Given the description of an element on the screen output the (x, y) to click on. 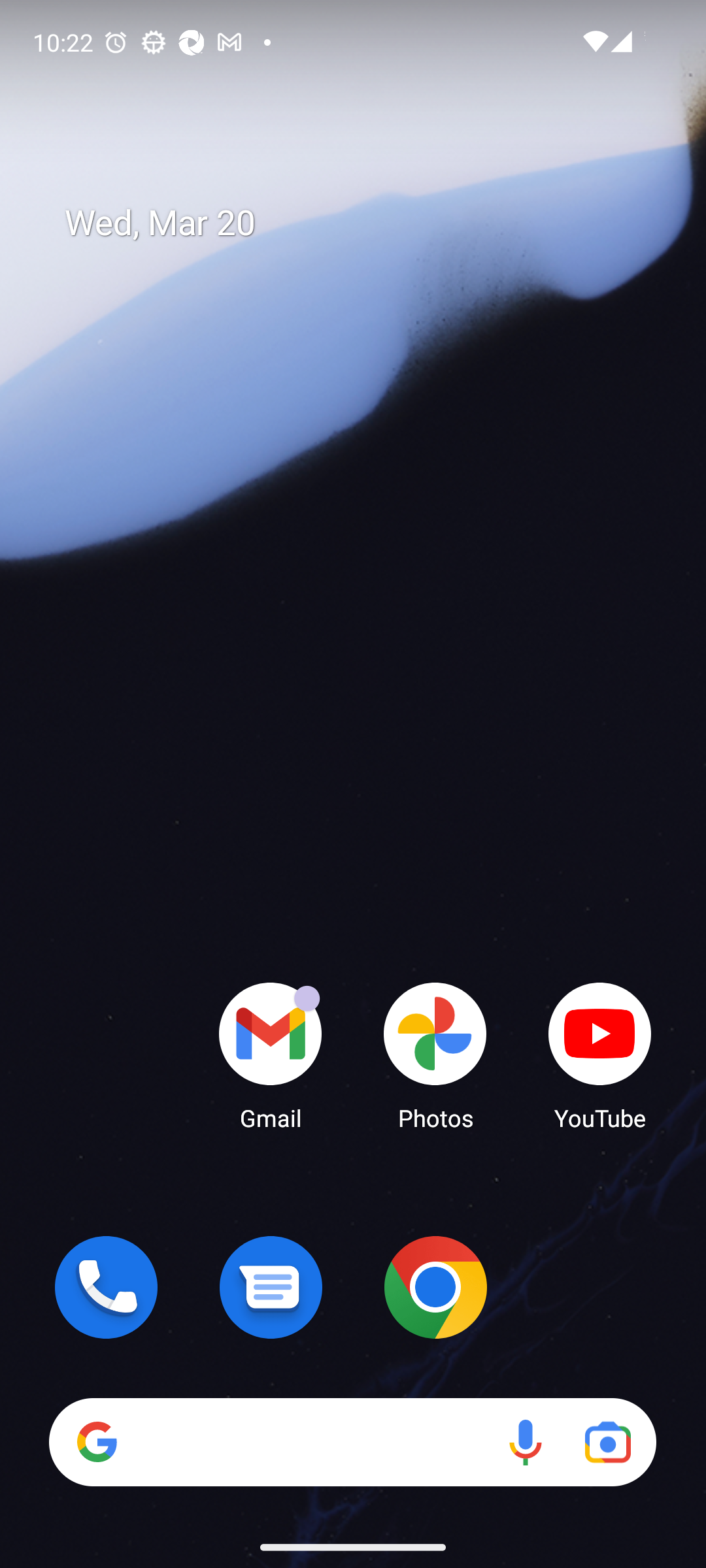
Wed, Mar 20 (366, 223)
Gmail Gmail has 22 notifications (270, 1054)
Photos (435, 1054)
YouTube (599, 1054)
Phone (106, 1287)
Messages (270, 1287)
Chrome (435, 1287)
Voice search (525, 1441)
Google Lens (607, 1441)
